Given the description of an element on the screen output the (x, y) to click on. 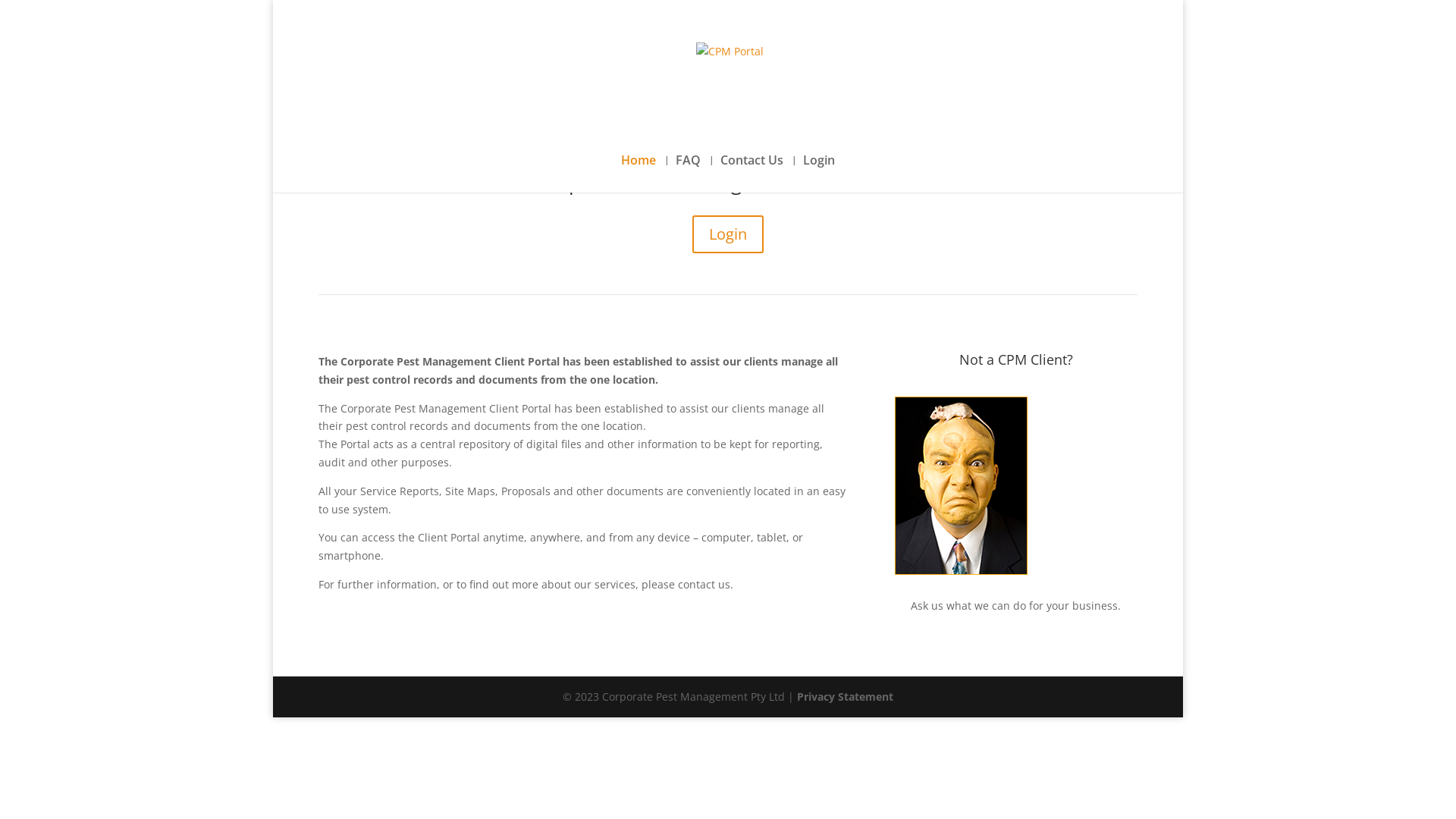
Login Element type: text (818, 173)
Login Element type: text (727, 234)
Contact Us Element type: text (751, 173)
Home Element type: text (638, 173)
Privacy Statement Element type: text (845, 696)
FAQ Element type: text (687, 173)
